Given the description of an element on the screen output the (x, y) to click on. 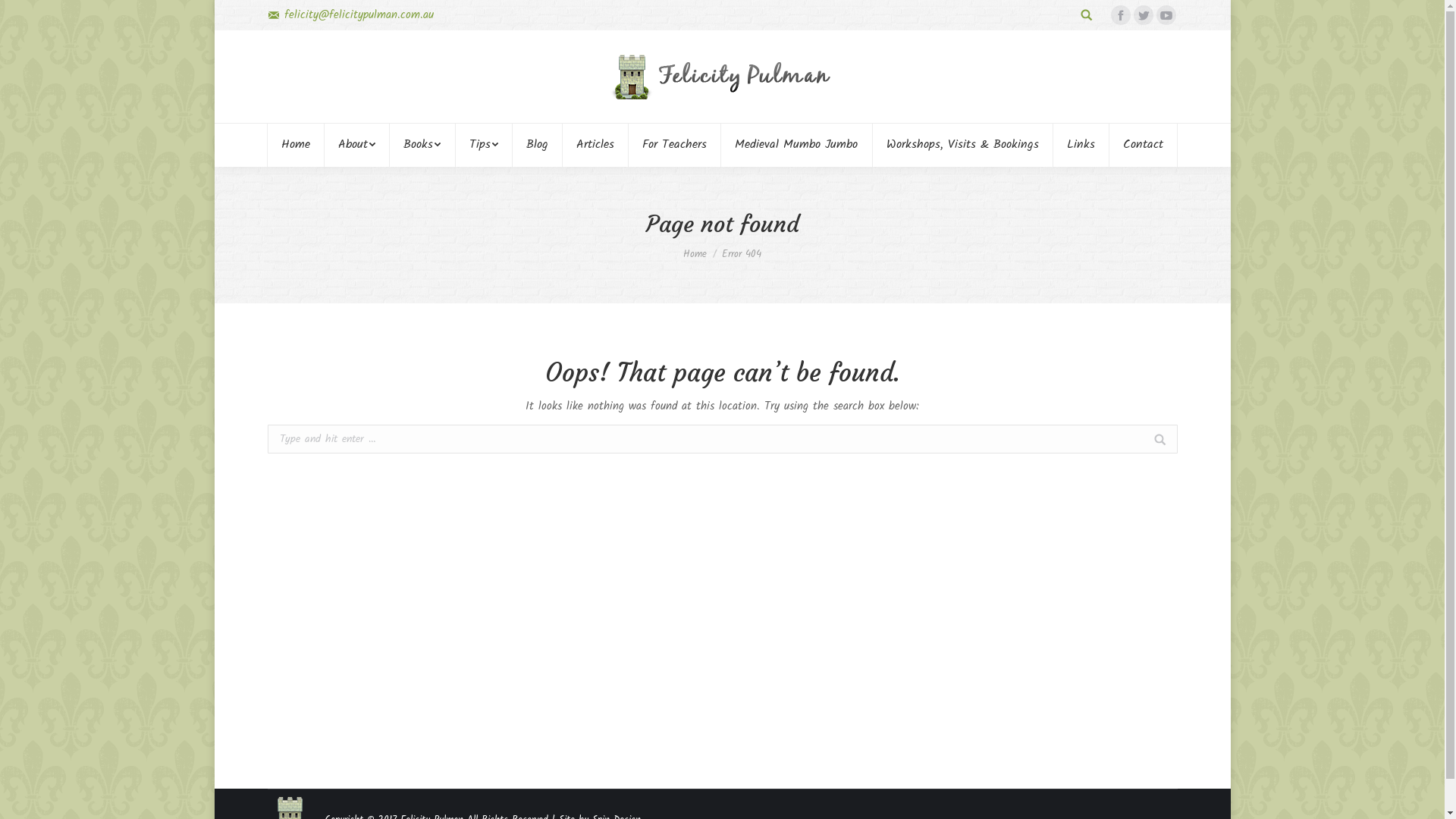
Home Element type: text (294, 144)
Medieval Mumbo Jumbo Element type: text (796, 144)
Articles Element type: text (594, 144)
  Element type: text (1086, 15)
Twitter Element type: text (1142, 15)
Go! Element type: text (21, 14)
Blog Element type: text (536, 144)
Tips Element type: text (483, 144)
Home Element type: text (694, 254)
Workshops, Visits & Bookings Element type: text (962, 144)
Facebook Element type: text (1119, 15)
Links Element type: text (1080, 144)
Books Element type: text (422, 144)
Contact Element type: text (1142, 144)
For Teachers Element type: text (674, 144)
YouTube Element type: text (1165, 15)
About Element type: text (356, 144)
